Given the description of an element on the screen output the (x, y) to click on. 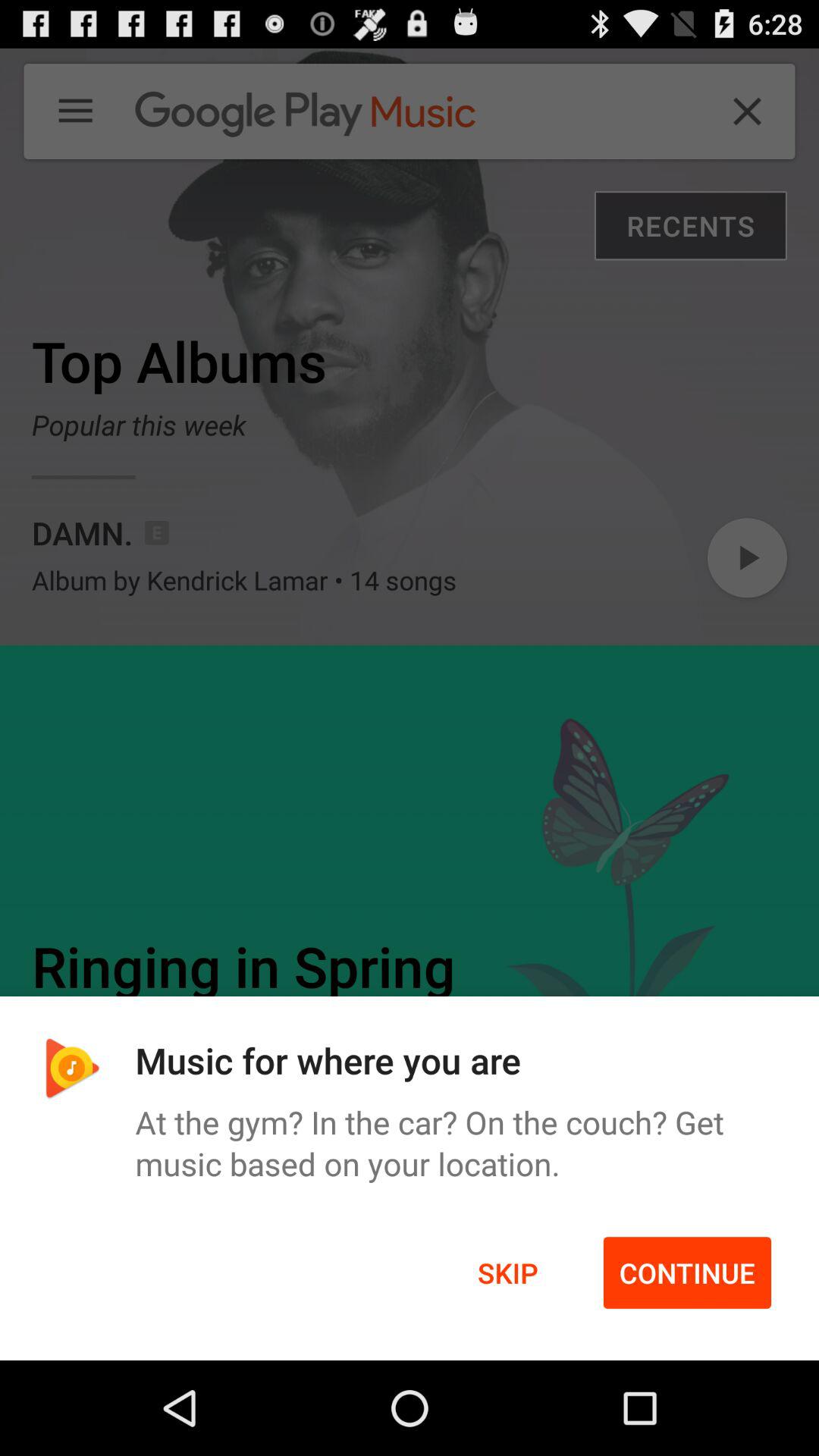
open the icon next to skip item (687, 1272)
